Given the description of an element on the screen output the (x, y) to click on. 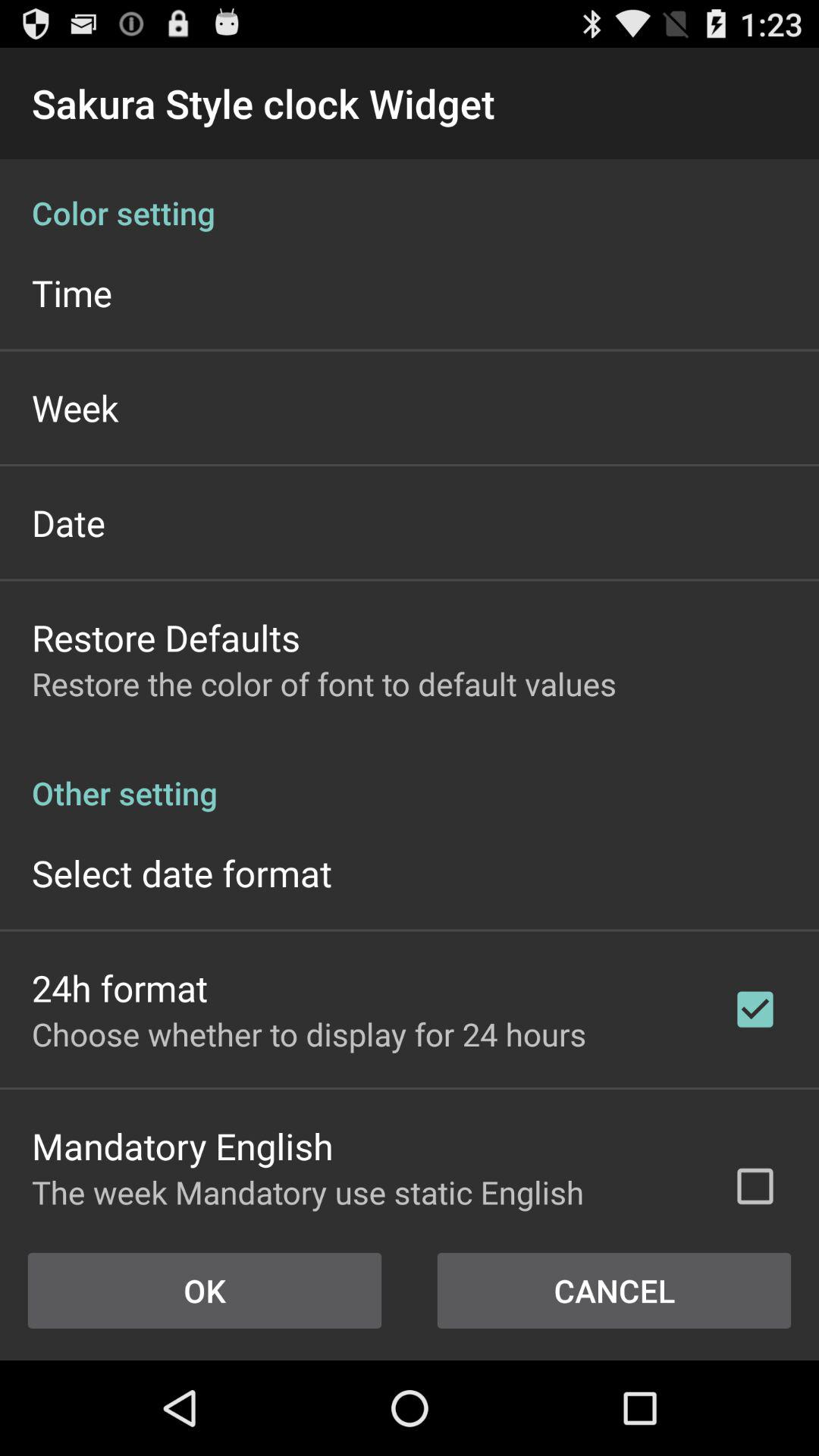
flip until select date format app (181, 872)
